Given the description of an element on the screen output the (x, y) to click on. 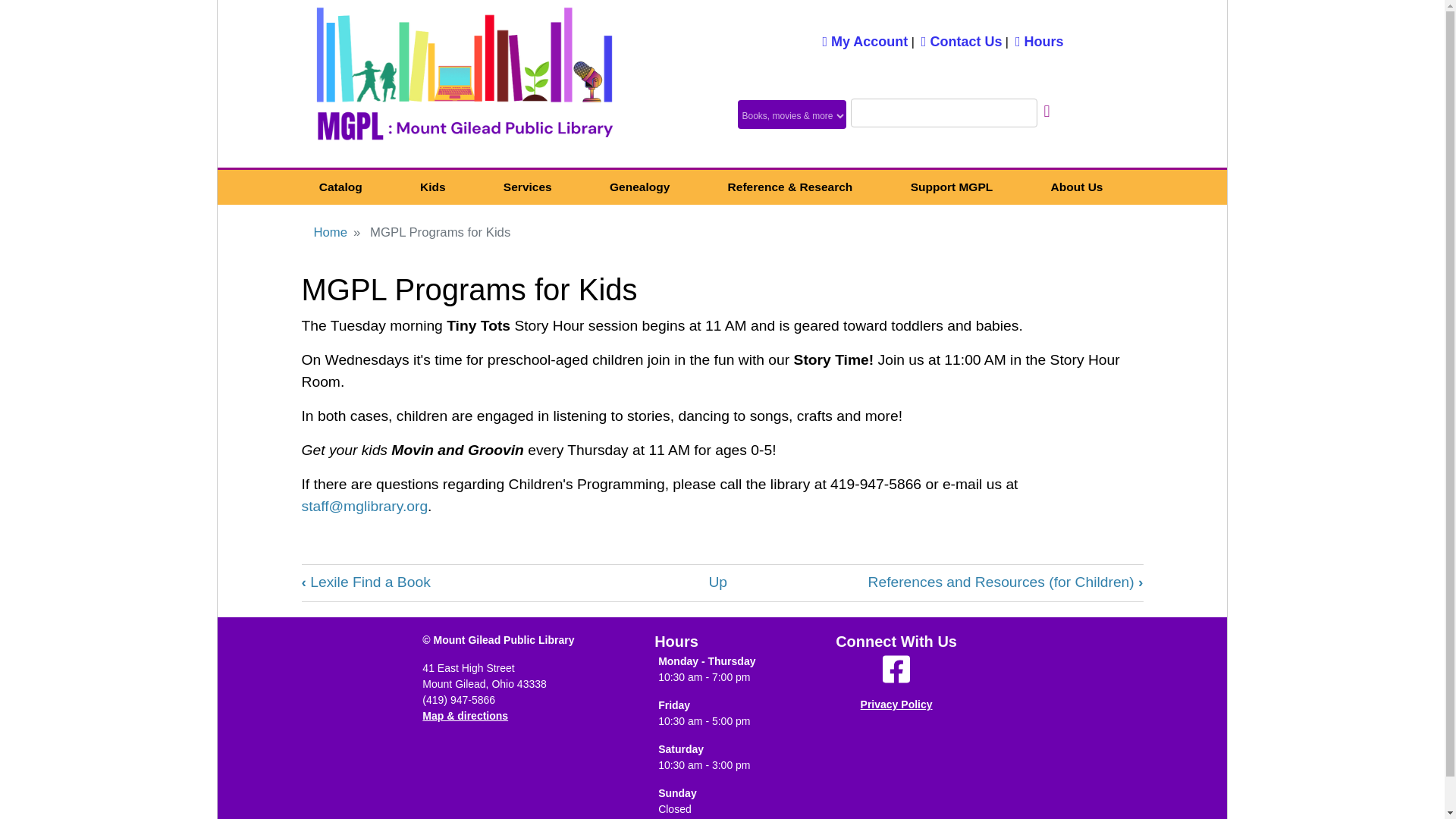
Home (464, 83)
 My Account (864, 41)
Genealogy (639, 187)
Catalog (340, 187)
Services (527, 187)
 Contact Us (962, 41)
Support MGPL (951, 187)
 Hours (1039, 41)
Services at the Mount Gilead Public Library (527, 187)
About Us (1075, 187)
